Given the description of an element on the screen output the (x, y) to click on. 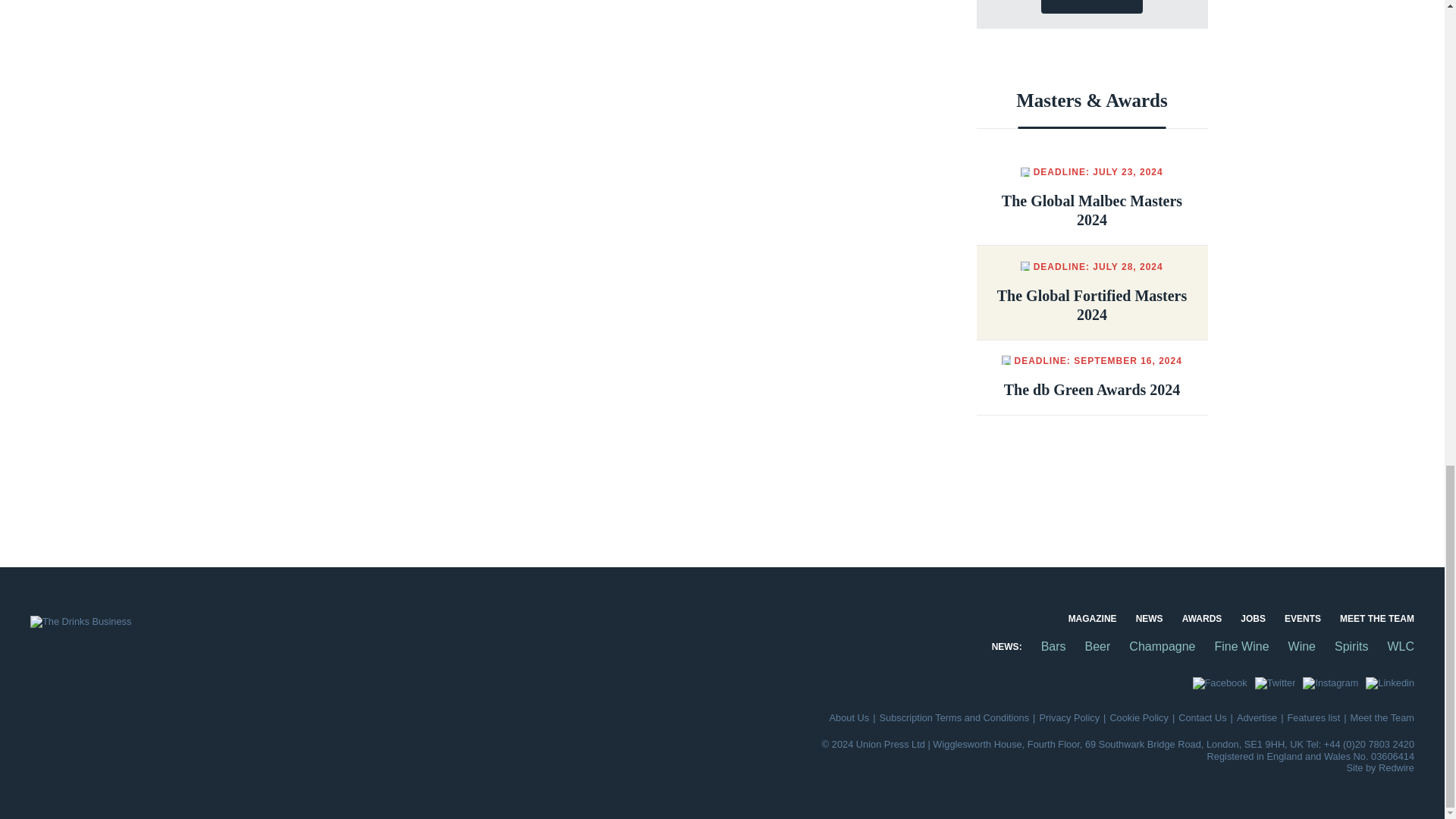
The Drinks Business (80, 621)
